Given the description of an element on the screen output the (x, y) to click on. 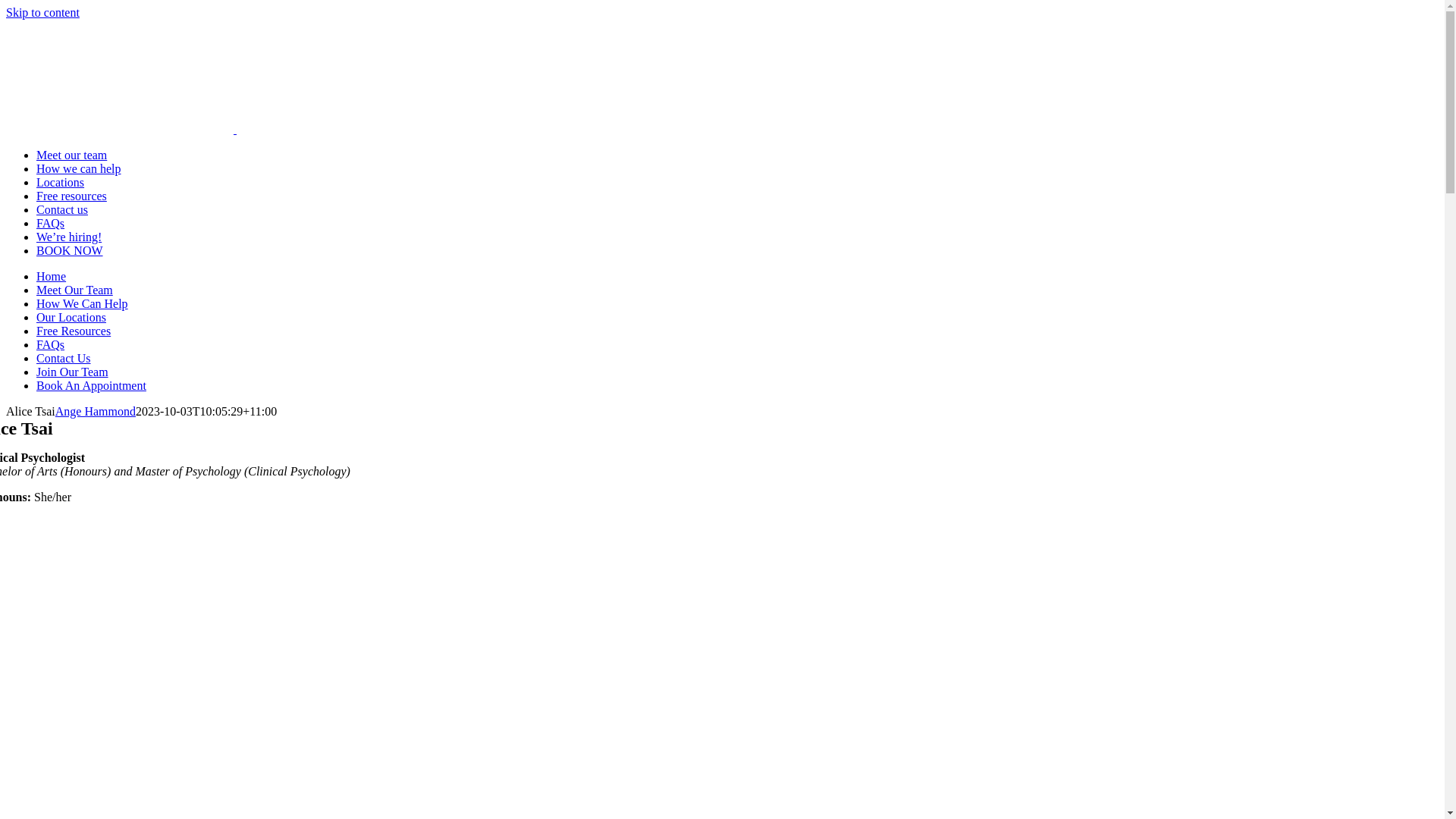
How We Can Help Element type: text (82, 303)
Ange Hammond Element type: text (95, 410)
Meet our team Element type: text (71, 154)
Meet Our Team Element type: text (74, 289)
FAQs Element type: text (50, 344)
Free resources Element type: text (71, 195)
Locations Element type: text (60, 181)
Contact us Element type: text (61, 209)
Free Resources Element type: text (73, 330)
Home Element type: text (50, 275)
FAQs Element type: text (50, 222)
Our Locations Element type: text (71, 316)
Skip to content Element type: text (42, 12)
How we can help Element type: text (78, 168)
Join Our Team Element type: text (72, 371)
Contact Us Element type: text (63, 357)
Book An Appointment Element type: text (91, 385)
BOOK NOW Element type: text (69, 250)
